Given the description of an element on the screen output the (x, y) to click on. 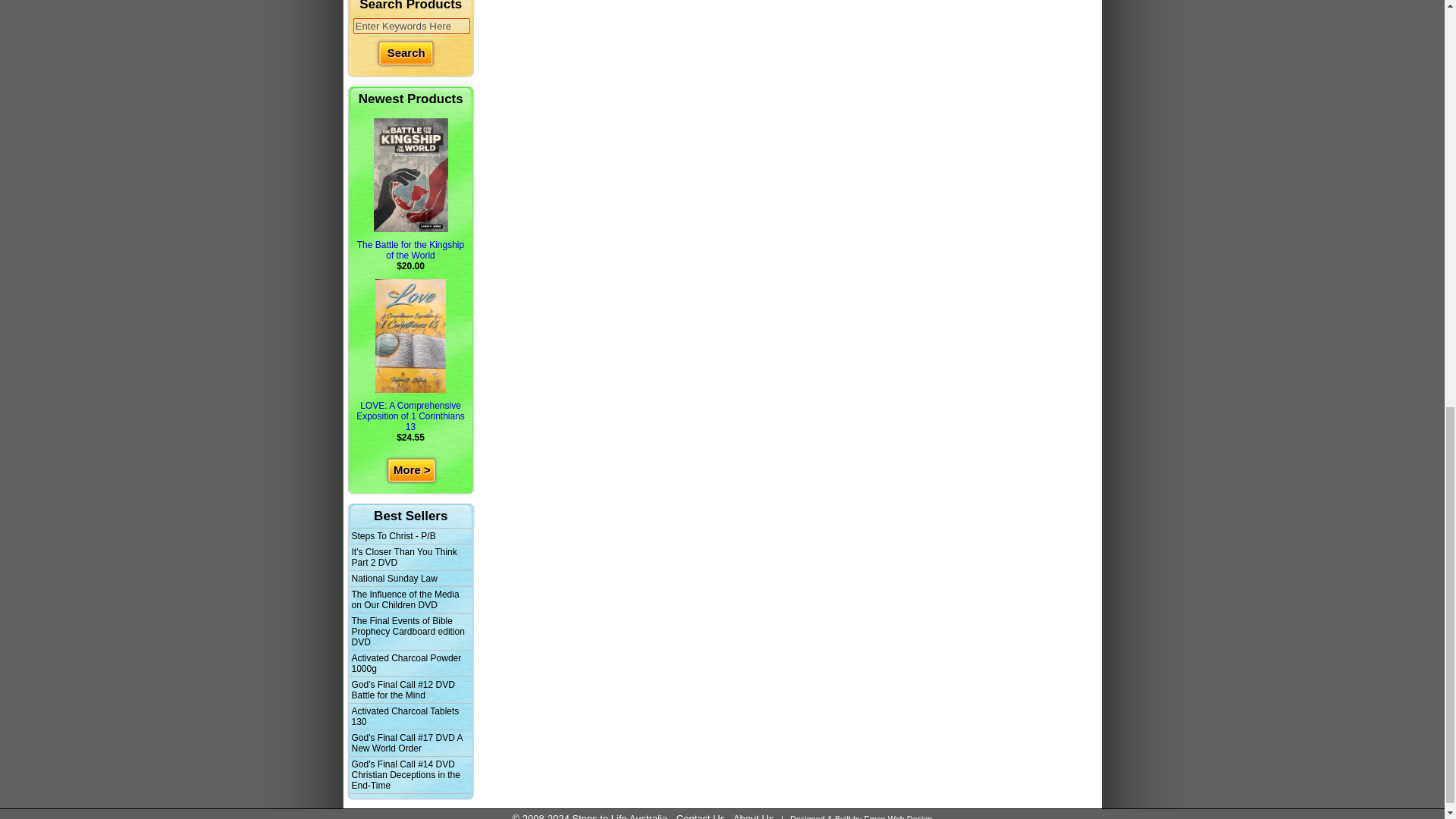
Enter Keywords Here (411, 26)
